Given the description of an element on the screen output the (x, y) to click on. 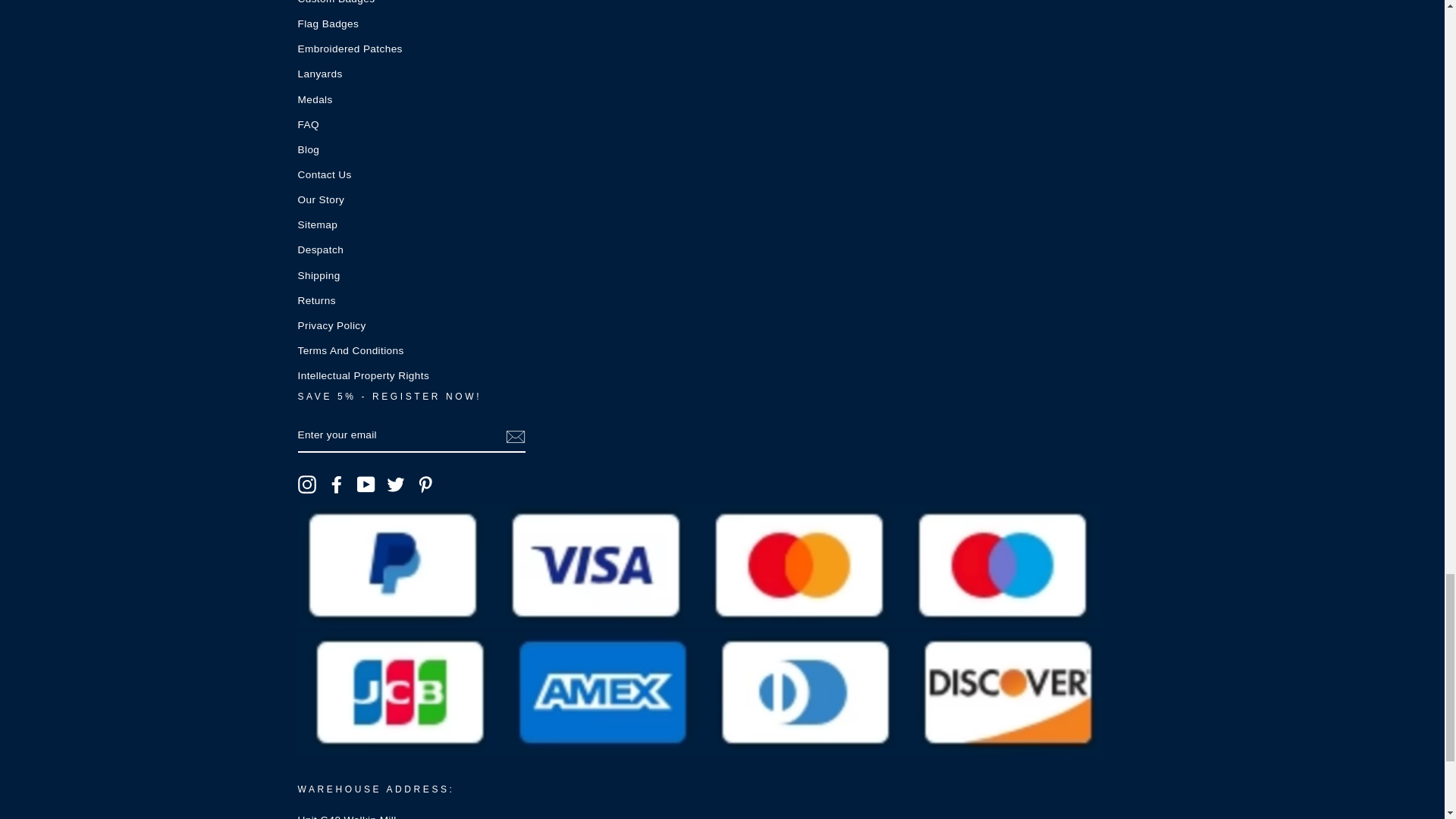
Badges UK on Instagram (306, 484)
Badges UK on Facebook (336, 484)
Badges UK on YouTube (365, 484)
Badges UK on Twitter (395, 484)
Badges UK on Pinterest (423, 484)
